Given the description of an element on the screen output the (x, y) to click on. 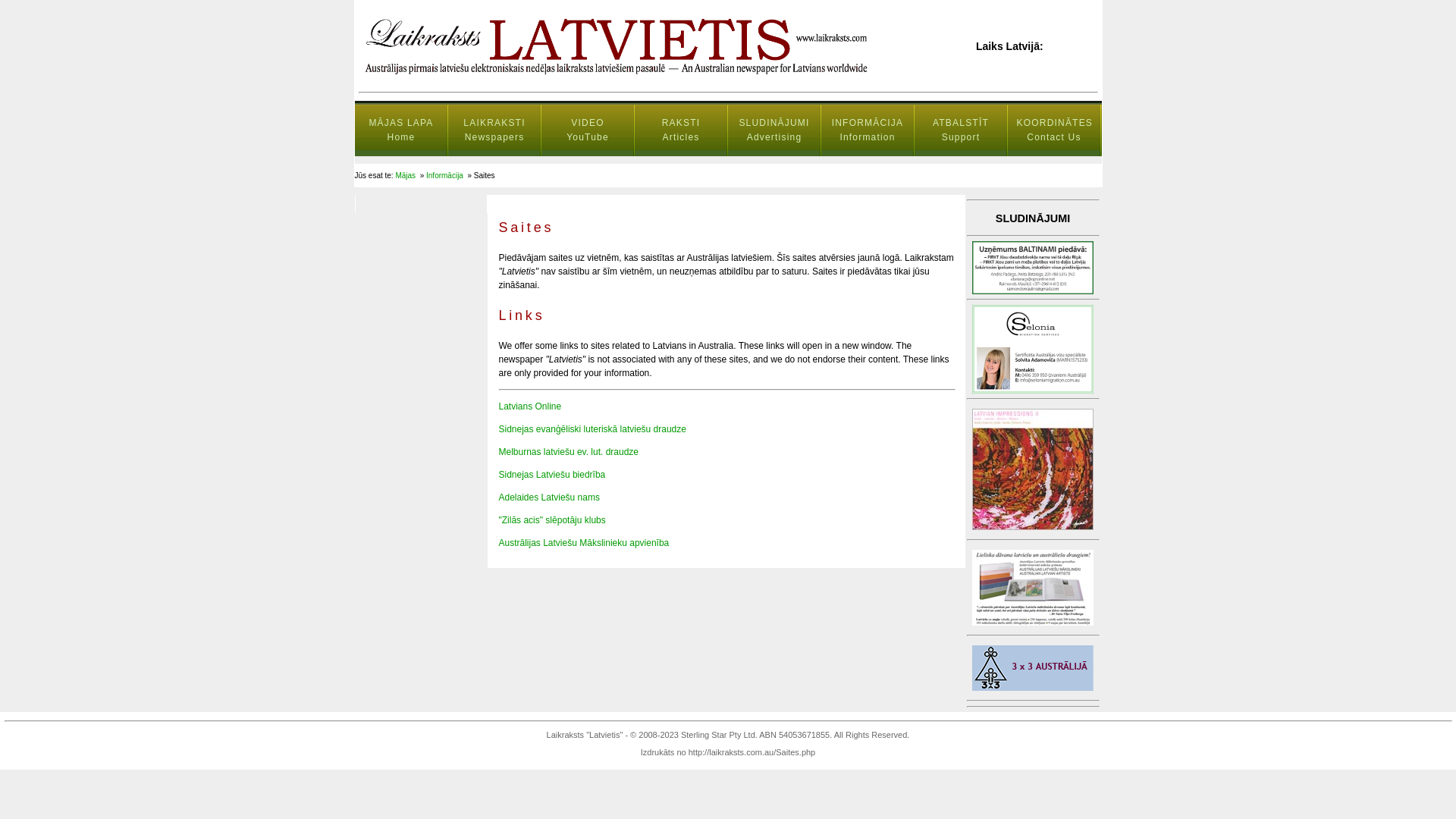
VIDEO
YouTube Element type: text (587, 130)
RAKSTI
Articles Element type: text (680, 130)
Latvians Online Element type: text (529, 406)
LAIKRAKSTI
Newspapers Element type: text (493, 130)
